Given the description of an element on the screen output the (x, y) to click on. 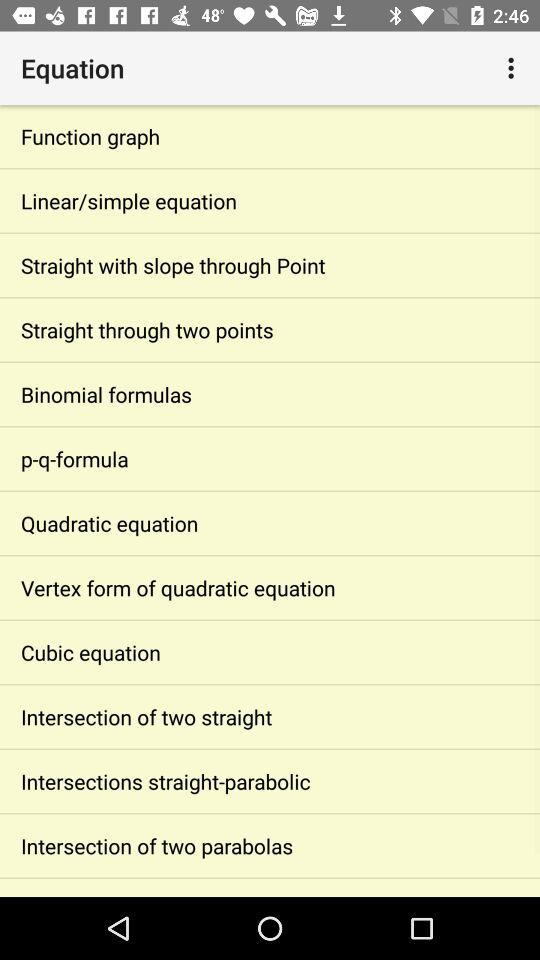
flip to binomial formulas app (270, 394)
